Given the description of an element on the screen output the (x, y) to click on. 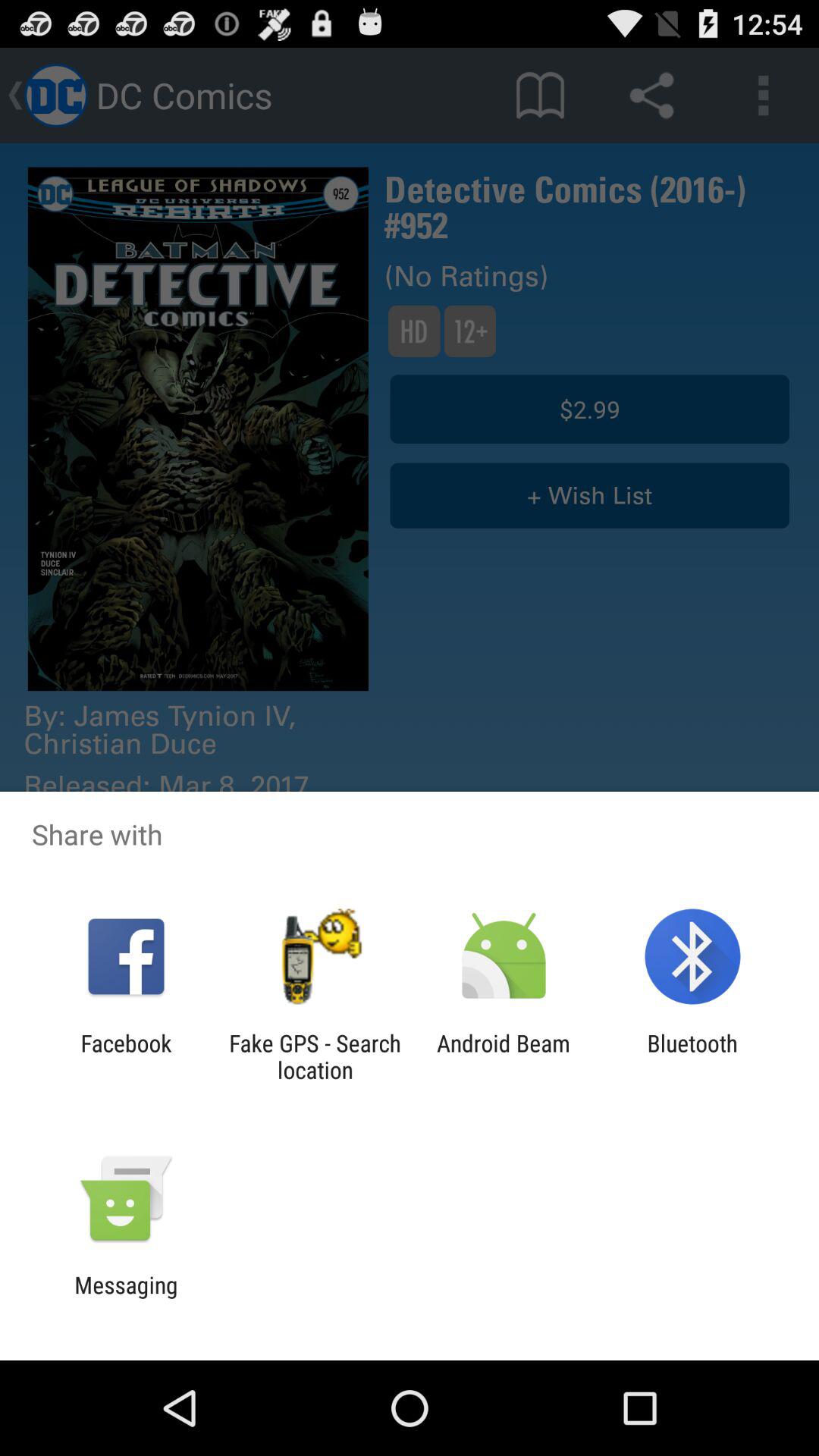
press the item at the bottom right corner (692, 1056)
